Given the description of an element on the screen output the (x, y) to click on. 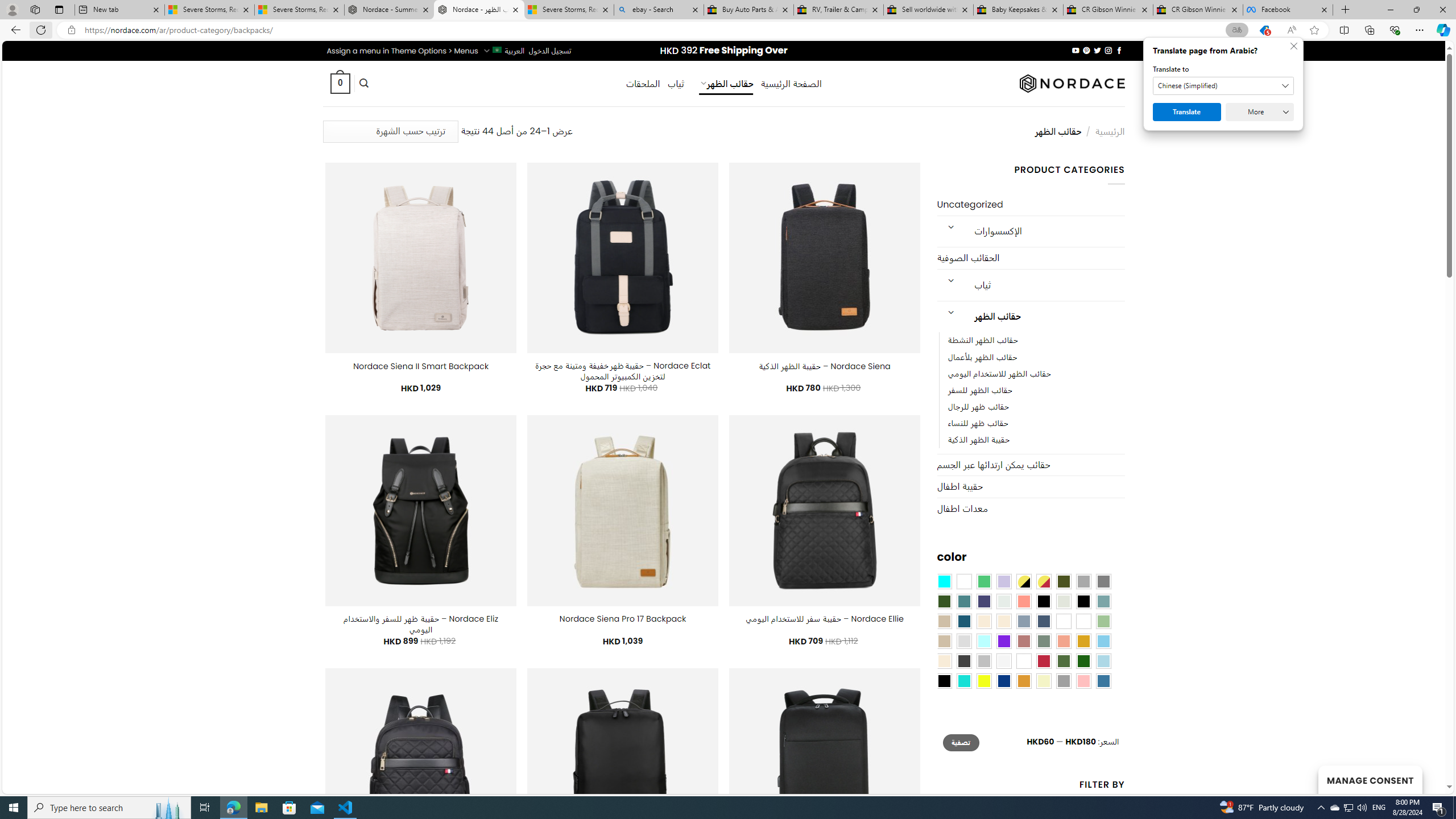
Clear (963, 581)
Follow on Pinterest (1086, 50)
Capri Blue (963, 621)
Follow on Facebook (1118, 50)
